Given the description of an element on the screen output the (x, y) to click on. 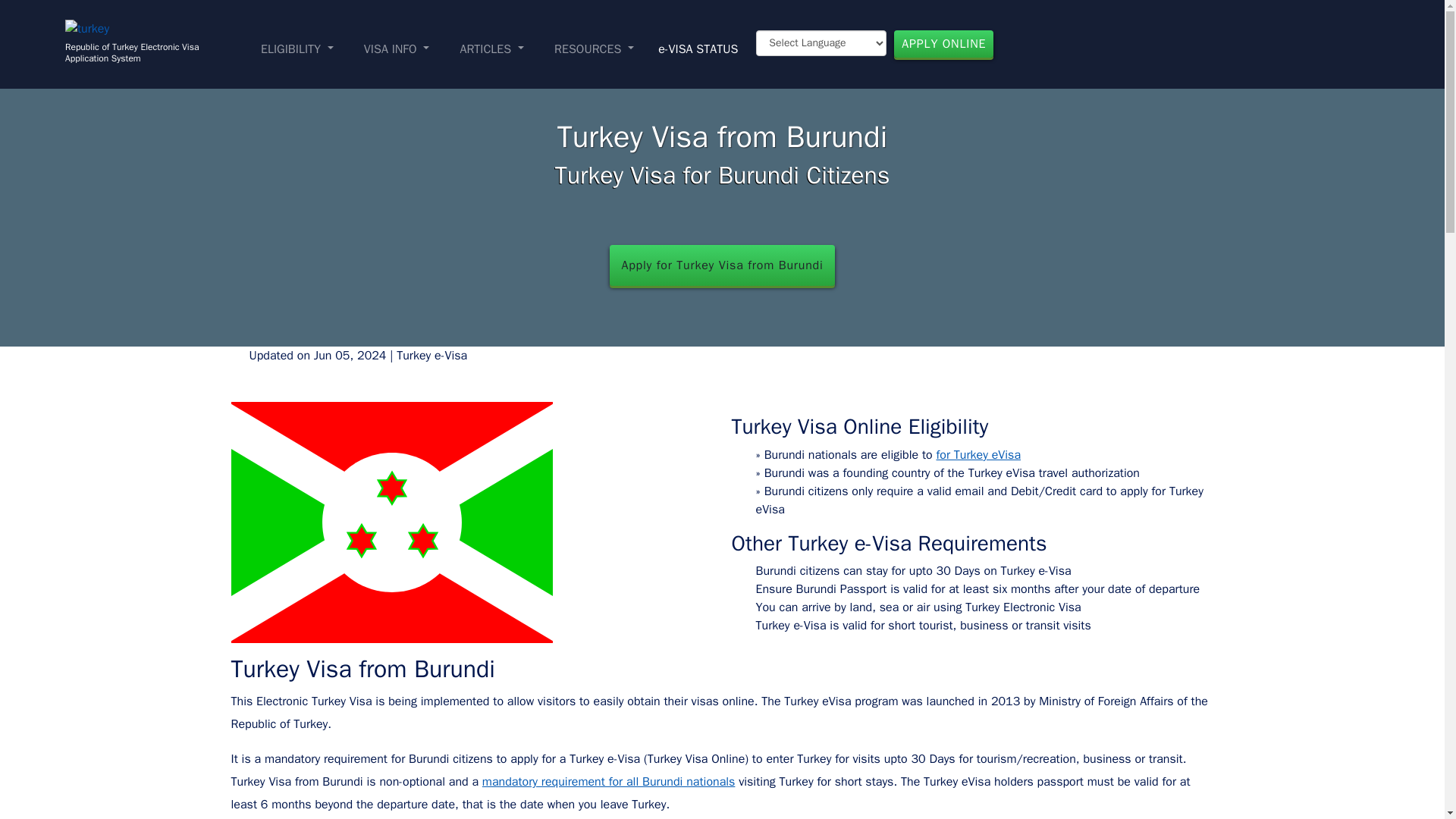
ARTICLES (490, 48)
Republic of Turkey Electronic Visa Application System (159, 48)
ELIGIBILITY (296, 48)
VISA INFO (396, 48)
